Given the description of an element on the screen output the (x, y) to click on. 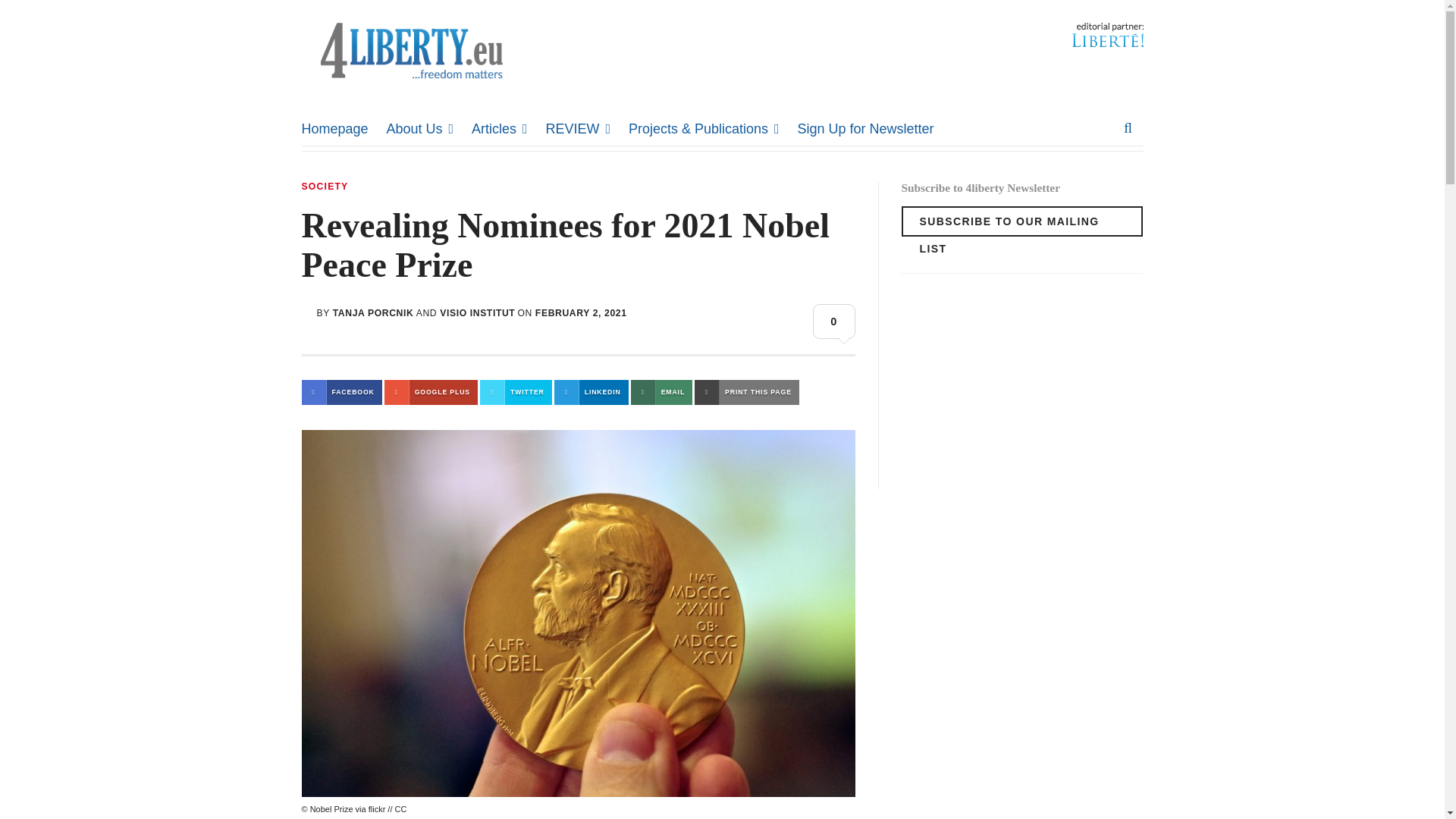
Posts by Tanja Porcnik (373, 312)
4LIBERTY.EU (412, 96)
Posts by Visio Institut (477, 312)
